Given the description of an element on the screen output the (x, y) to click on. 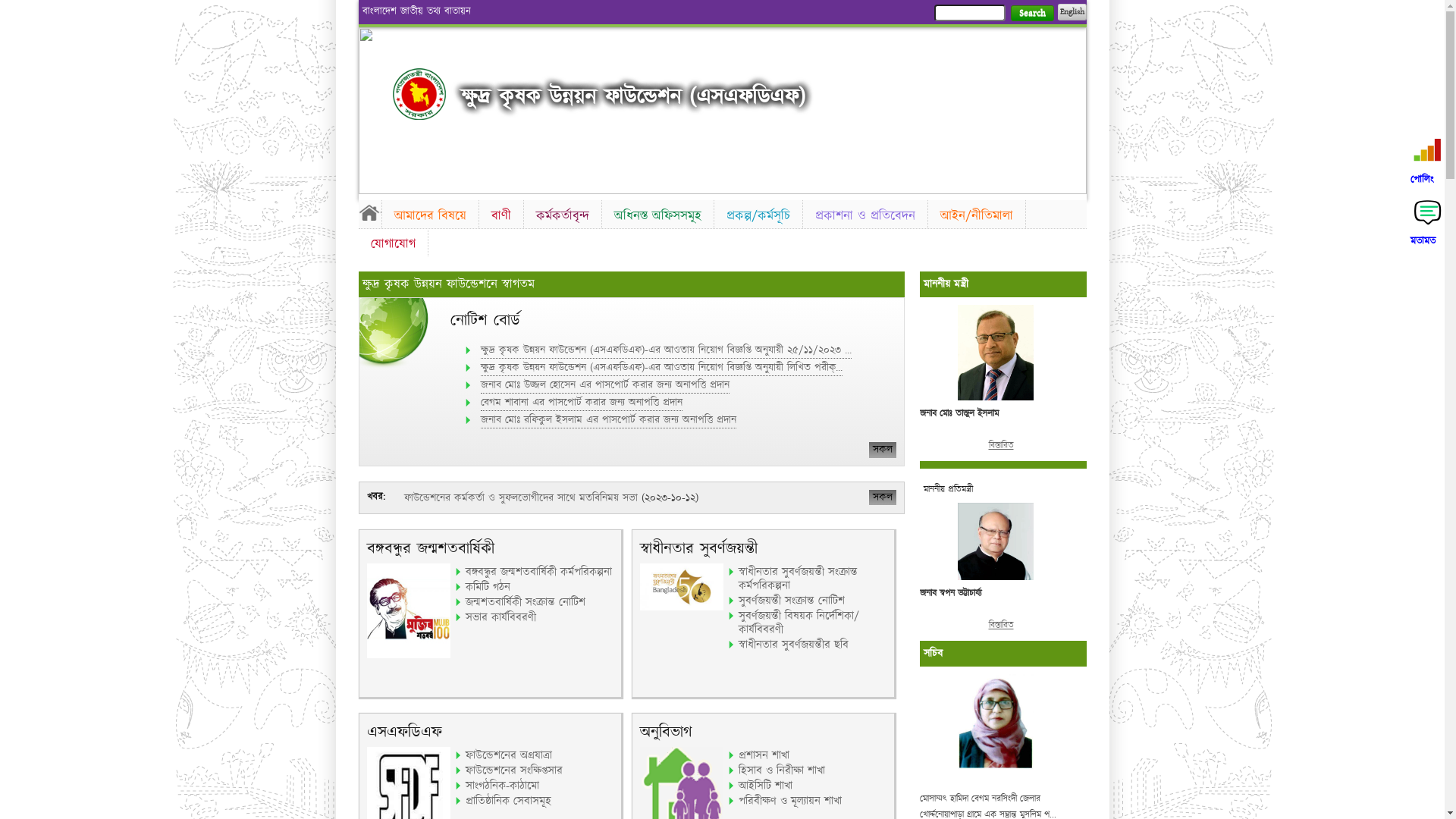
Search Element type: text (1031, 13)
English Element type: text (1071, 11)
Home Element type: hover (418, 93)
Home Element type: hover (368, 211)
